Given the description of an element on the screen output the (x, y) to click on. 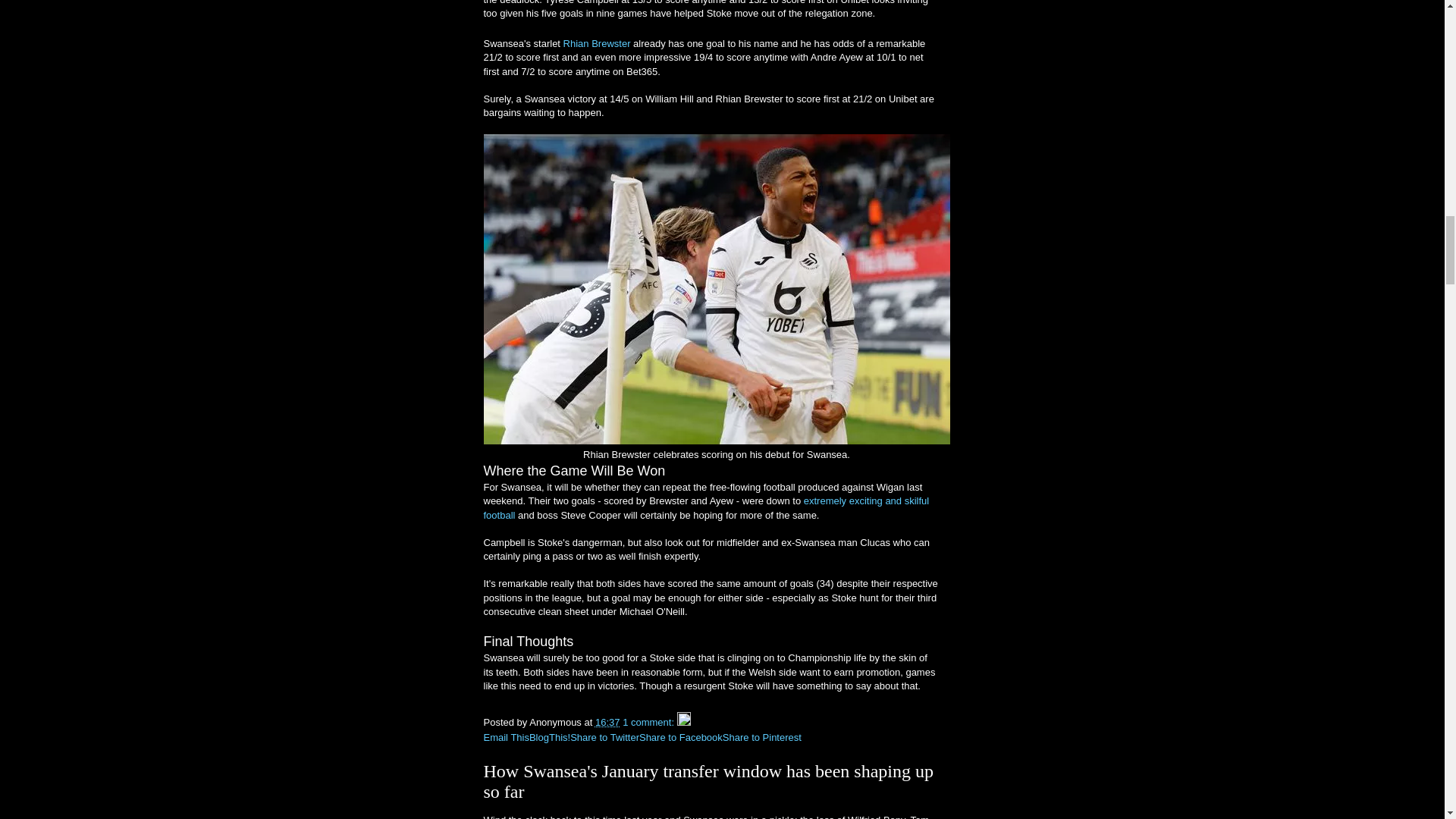
1 comment: (650, 722)
Email This (506, 737)
extremely exciting and skilful football (706, 507)
Rhian Brewster (596, 43)
16:37 (607, 722)
